Given the description of an element on the screen output the (x, y) to click on. 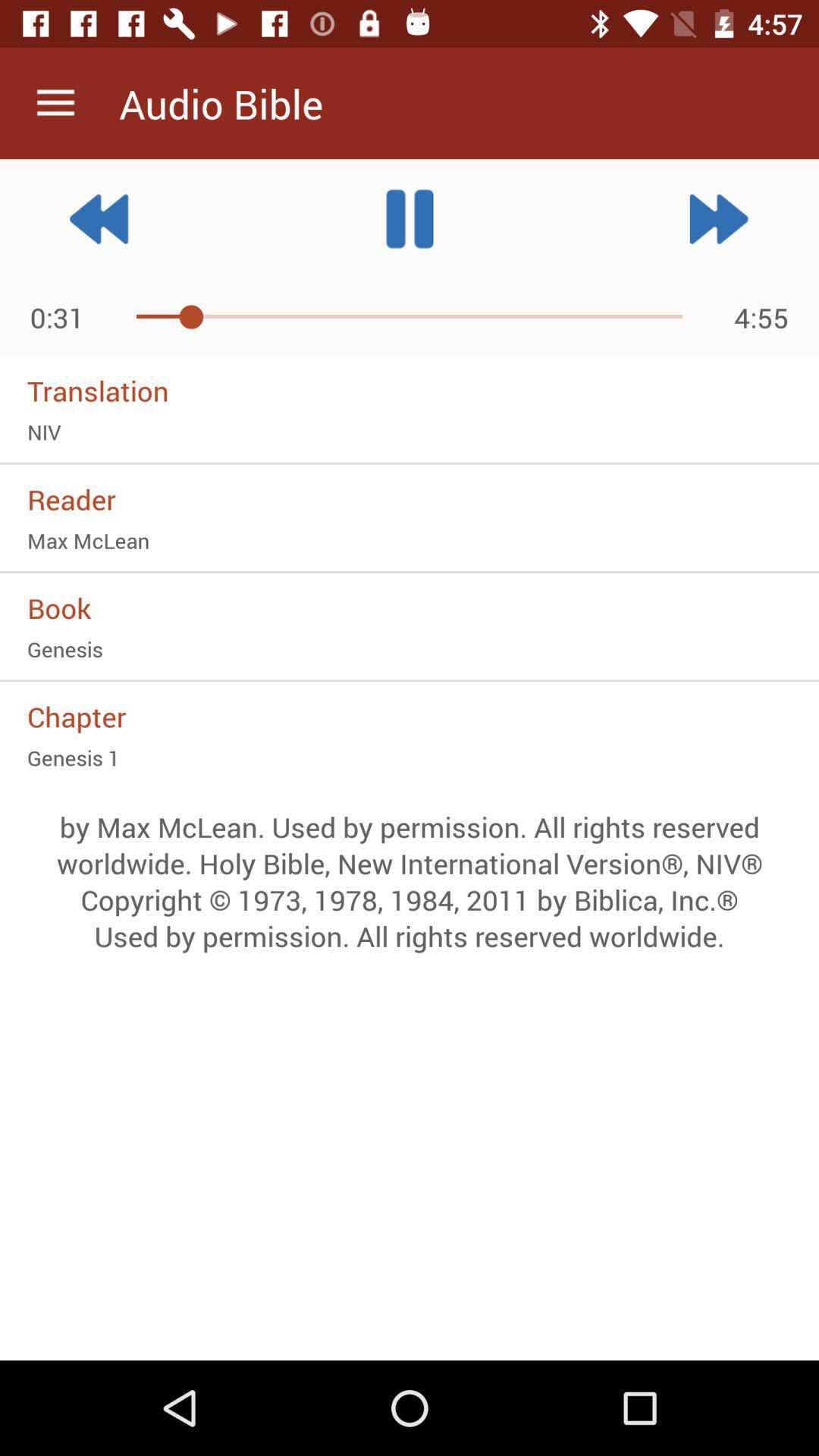
turn off icon above genesis item (409, 607)
